Given the description of an element on the screen output the (x, y) to click on. 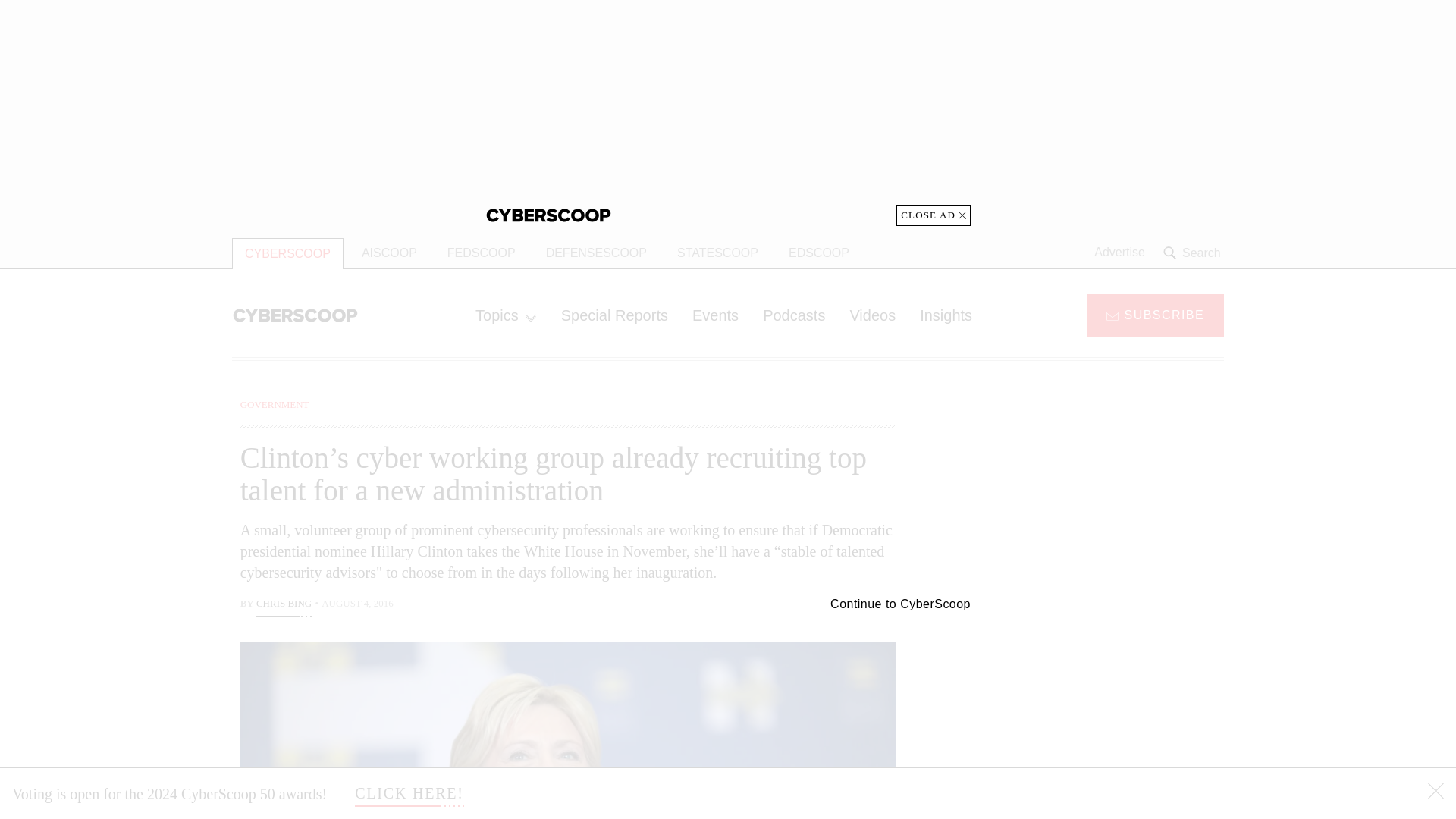
CYBERSCOOP (287, 253)
EDSCOOP (818, 253)
Search (1193, 252)
3rd party ad content (1101, 705)
AISCOOP (389, 253)
Special Reports (613, 315)
Advertise (1119, 252)
3rd party ad content (1101, 492)
Events (715, 315)
